Given the description of an element on the screen output the (x, y) to click on. 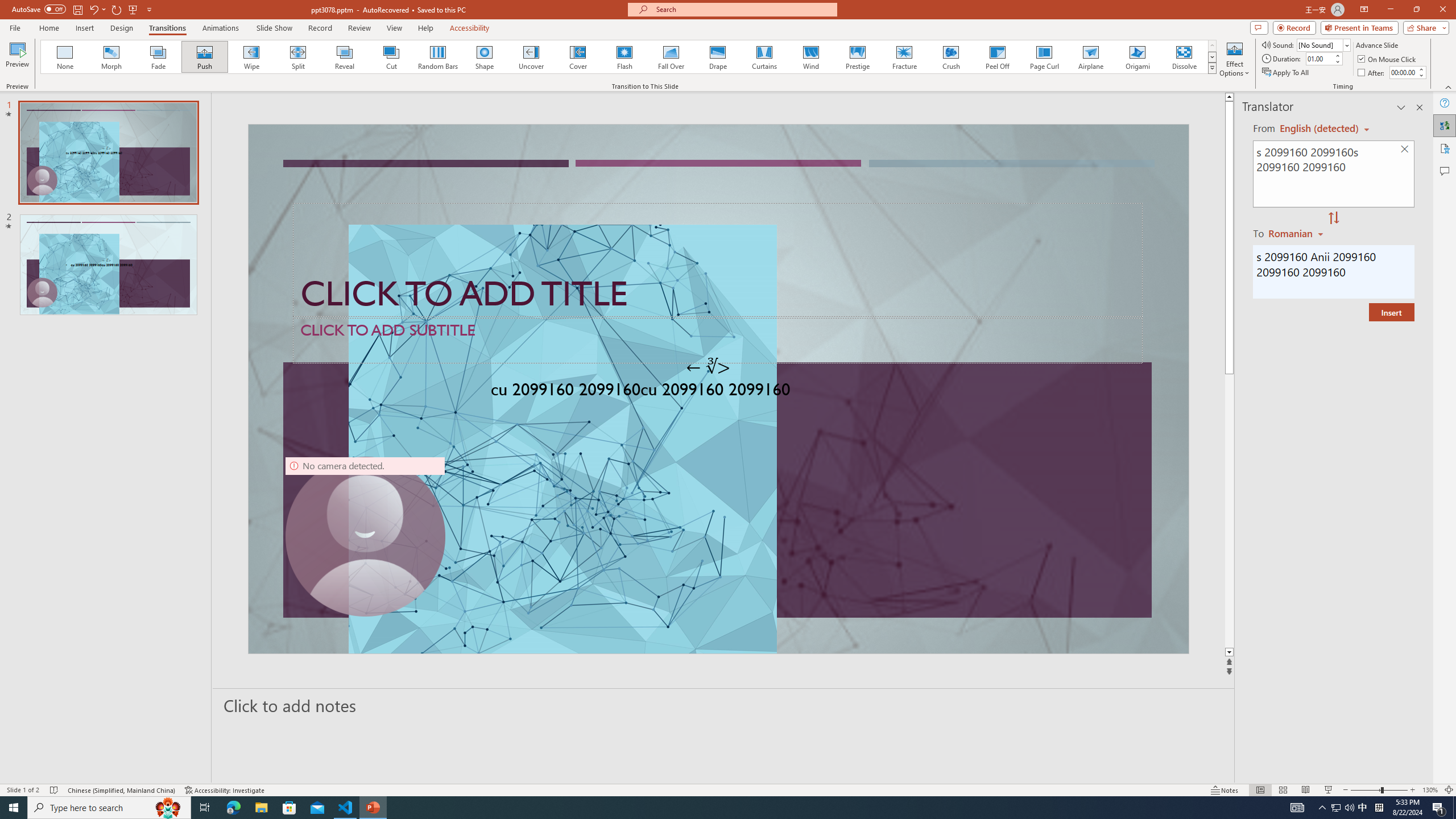
Airplane (1090, 56)
Page Curl (1043, 56)
Peel Off (997, 56)
Fracture (903, 56)
Dissolve (1183, 56)
